Given the description of an element on the screen output the (x, y) to click on. 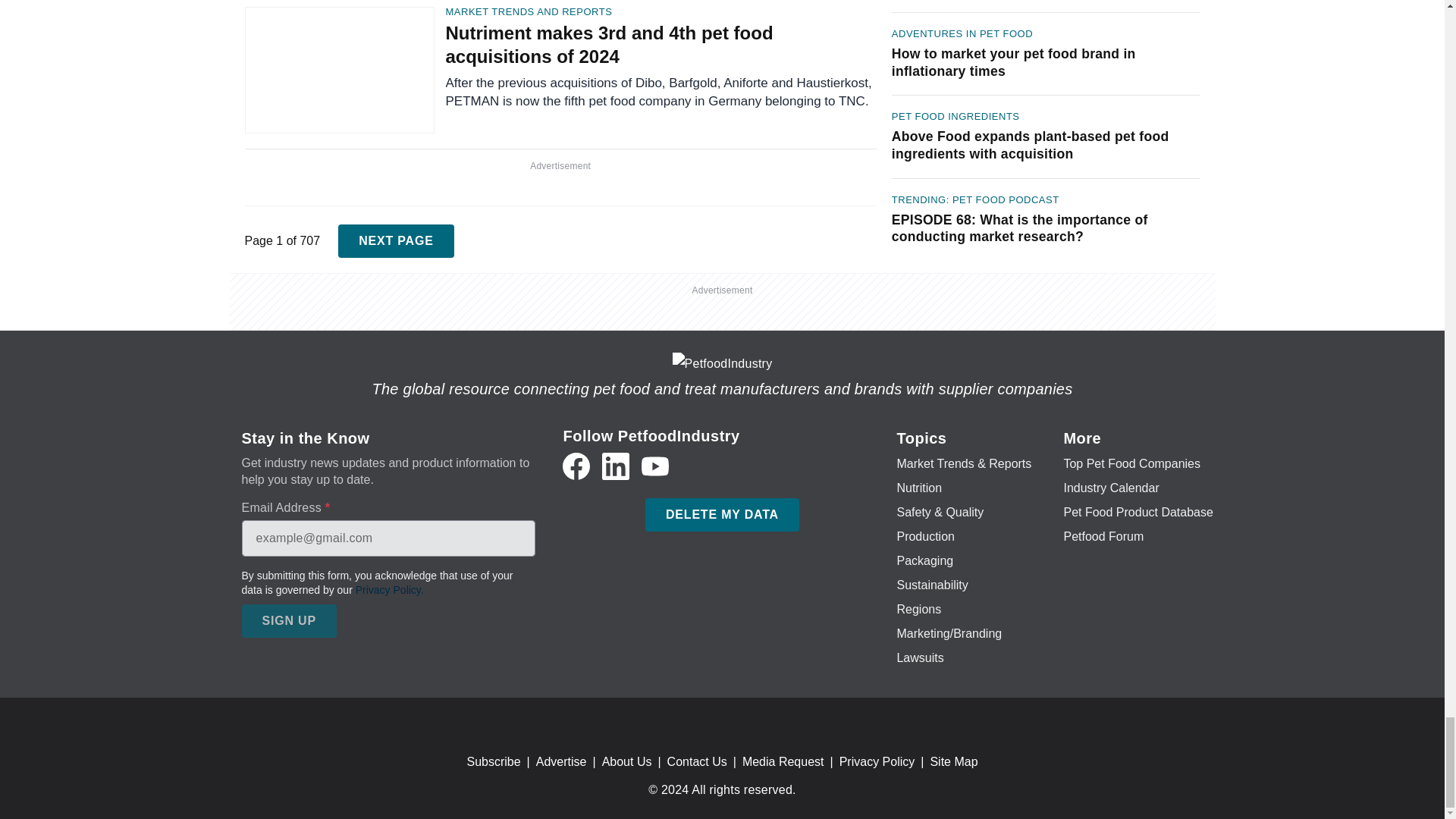
YouTube icon (655, 465)
LinkedIn icon (615, 465)
Facebook icon (575, 465)
